Given the description of an element on the screen output the (x, y) to click on. 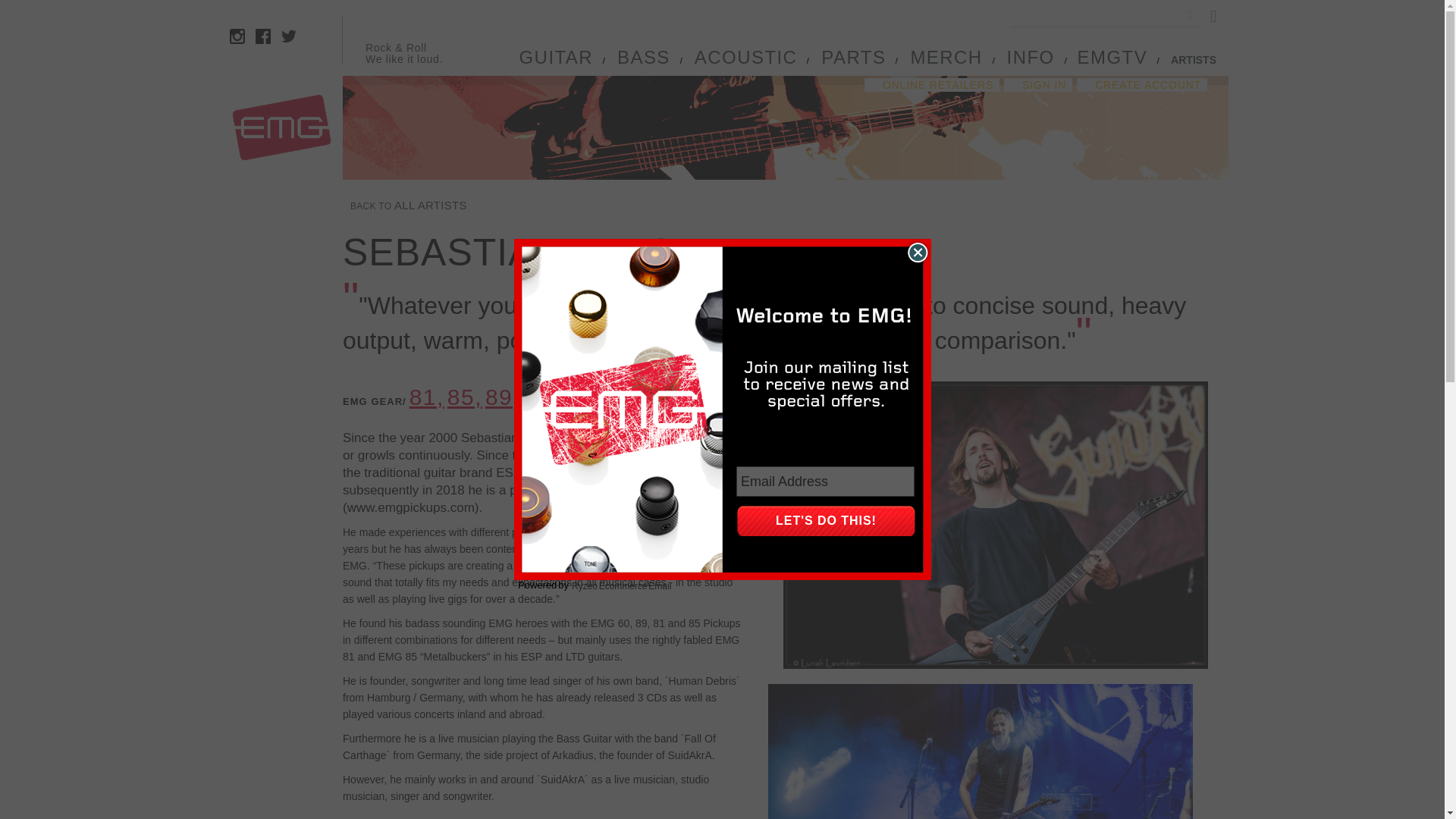
ONLINE RETAILERS (931, 84)
Instagram (237, 36)
ACOUSTIC (745, 60)
BASS (643, 60)
Facebook (263, 36)
GUITAR (555, 60)
SIGN IN (1037, 84)
Twitter (289, 36)
CREATE ACCOUNT (1142, 84)
